Given the description of an element on the screen output the (x, y) to click on. 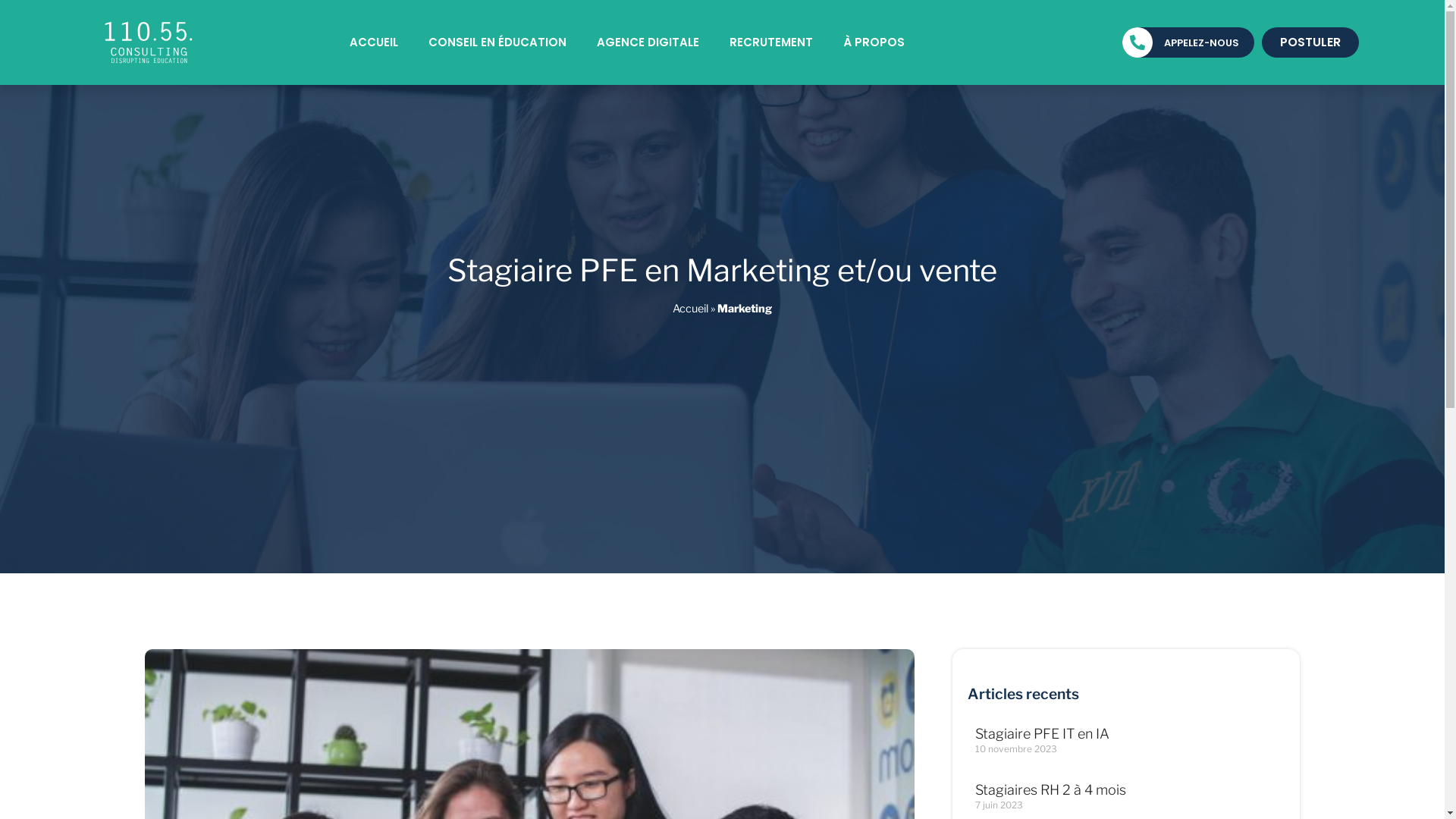
RECRUTEMENT Element type: text (771, 42)
Stagiaire PFE IT en IA Element type: text (1042, 733)
POSTULER Element type: text (1309, 42)
ACCUEIL Element type: text (373, 42)
AGENCE DIGITALE Element type: text (647, 42)
Accueil Element type: text (690, 308)
APPELEZ-NOUS Element type: text (1201, 42)
